Given the description of an element on the screen output the (x, y) to click on. 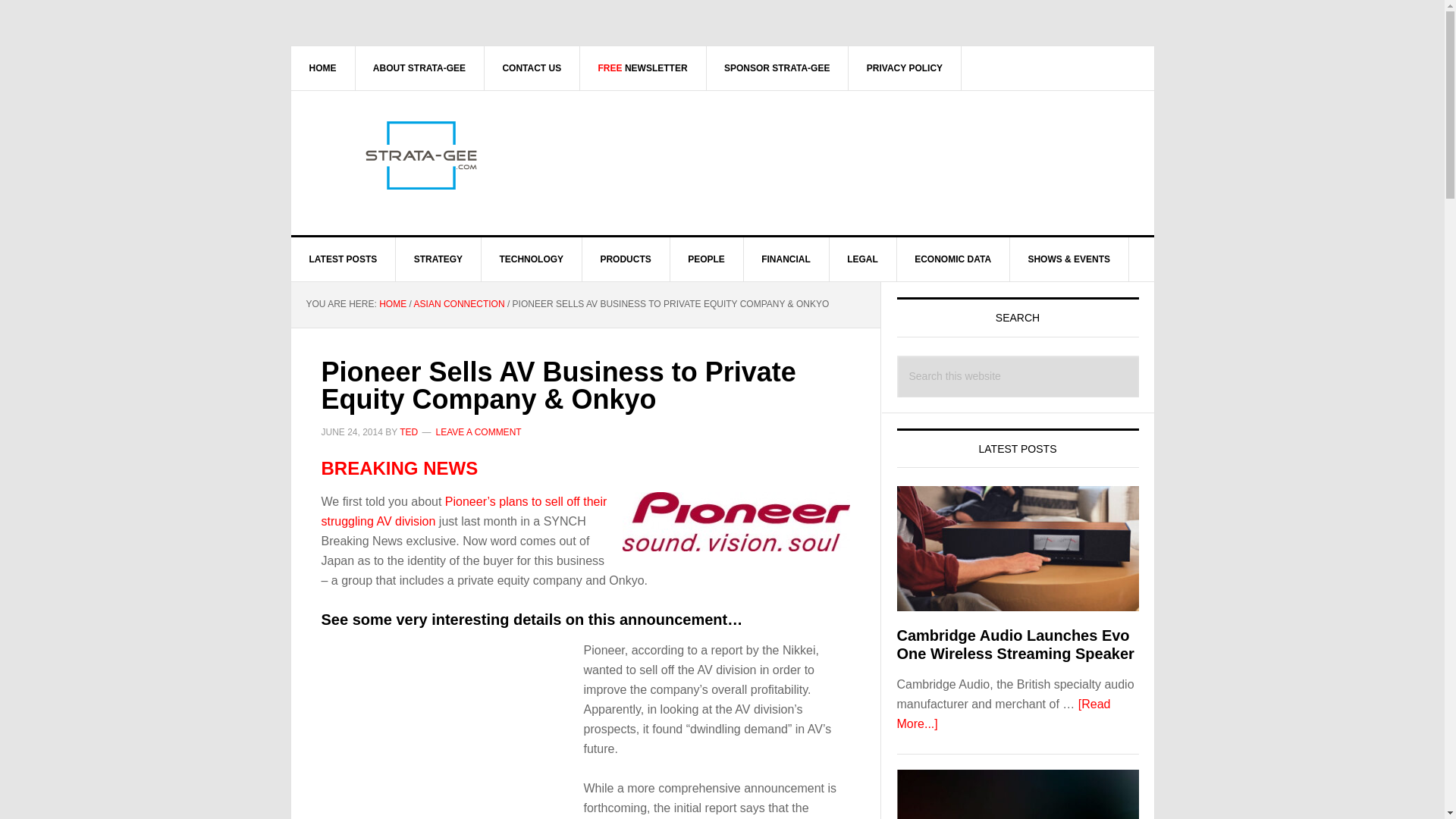
Pioneer Pulls Out of AV (464, 511)
FREE NEWSLETTER (642, 67)
CONTACT US (531, 67)
Advertisement (451, 741)
LATEST POSTS (343, 259)
TECHNOLOGY (531, 259)
PRODUCTS (624, 259)
ECONOMIC DATA (953, 259)
ASIAN CONNECTION (459, 303)
LEGAL (862, 259)
